Given the description of an element on the screen output the (x, y) to click on. 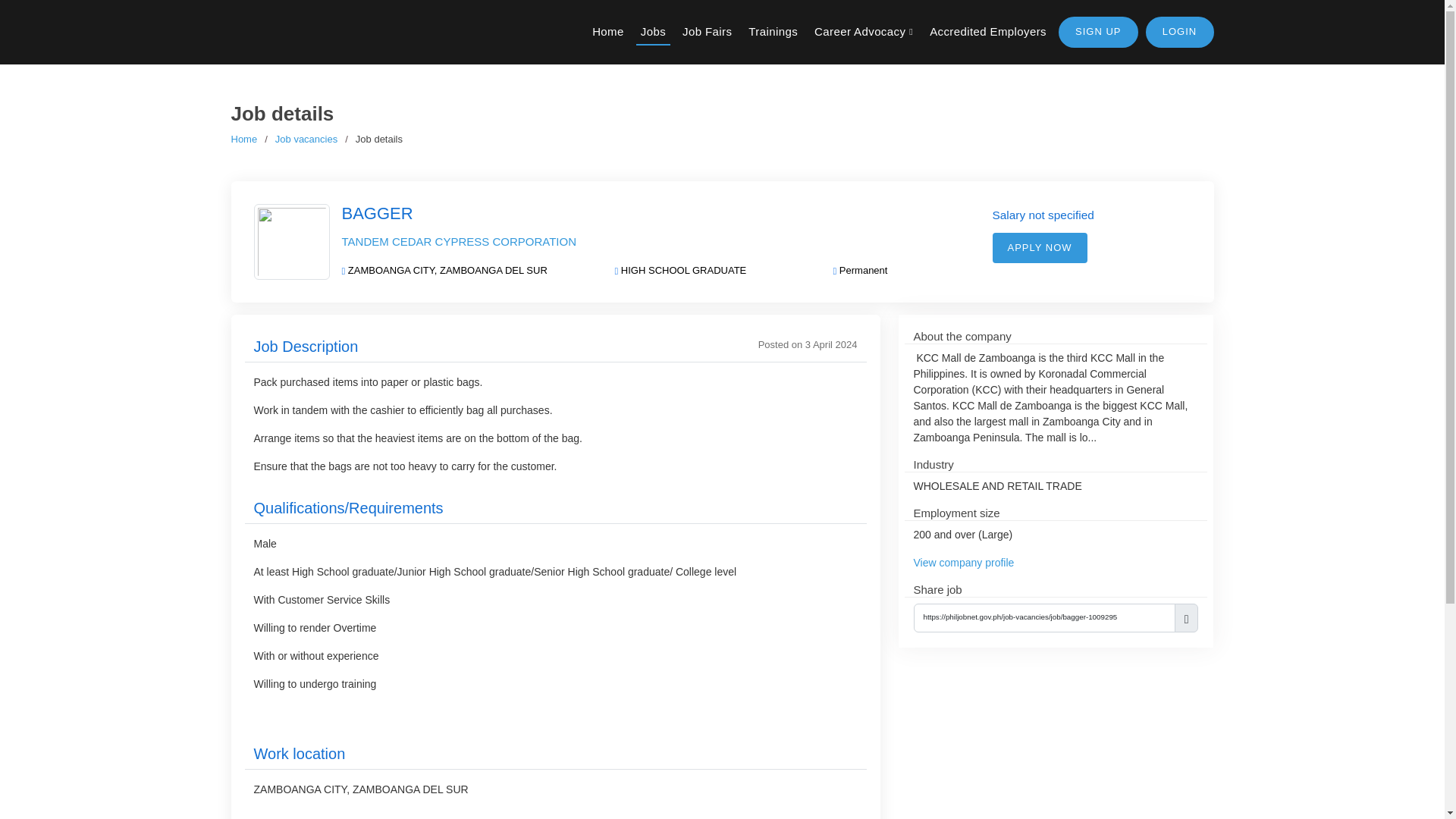
Home (243, 138)
Accredited Employers (987, 39)
LOGIN (1178, 39)
Trainings (773, 39)
APPLY NOW (1038, 247)
Job vacancies (306, 138)
Job Fairs (707, 39)
Home (608, 39)
Job Fairs (707, 39)
Jobs (652, 39)
